Given the description of an element on the screen output the (x, y) to click on. 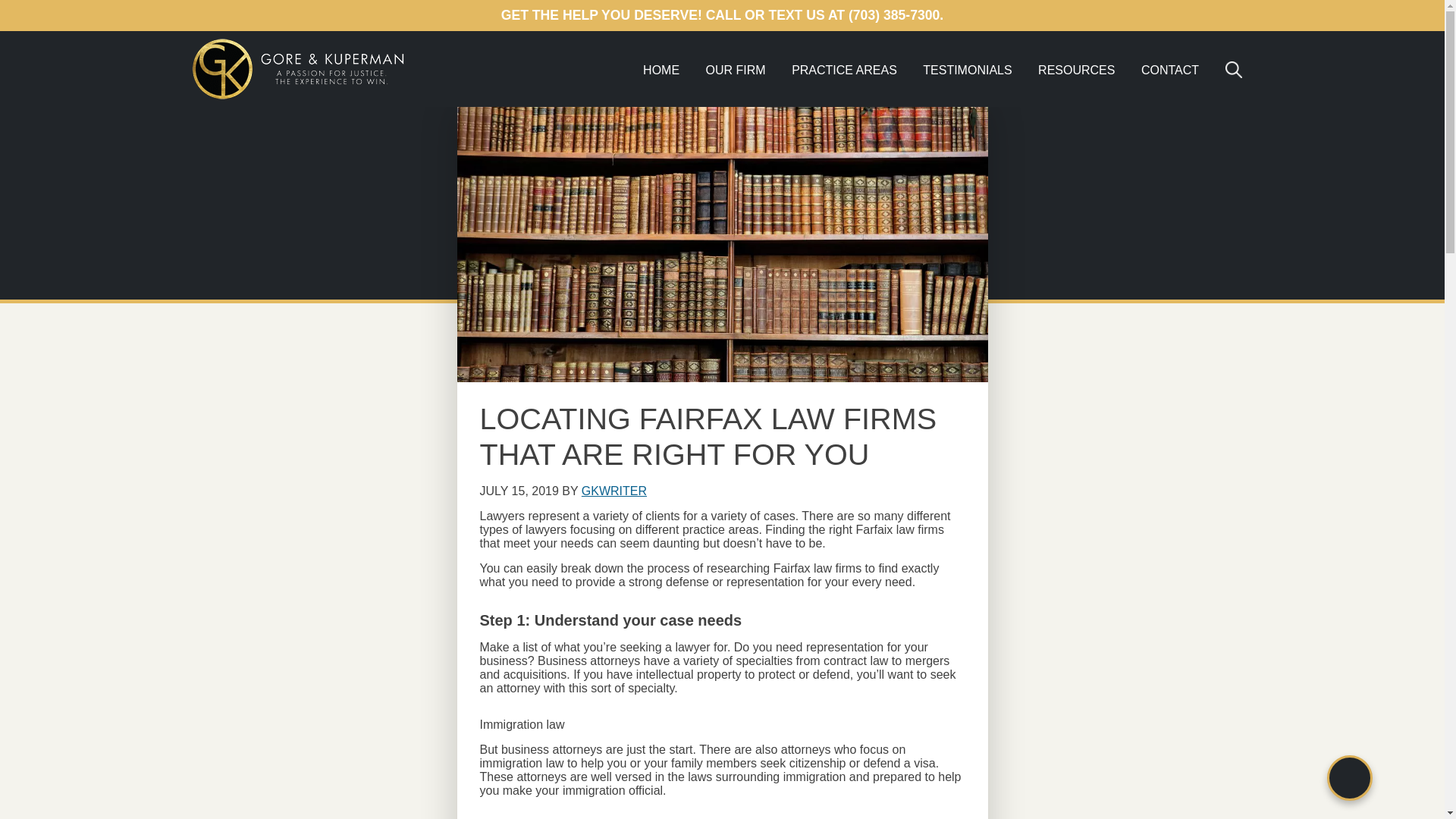
TESTIMONIALS (967, 69)
HOME (660, 69)
CONTACT (1169, 69)
PRACTICE AREAS (844, 69)
GKWRITER (613, 490)
RESOURCES (1075, 69)
OUR FIRM (735, 69)
